Given the description of an element on the screen output the (x, y) to click on. 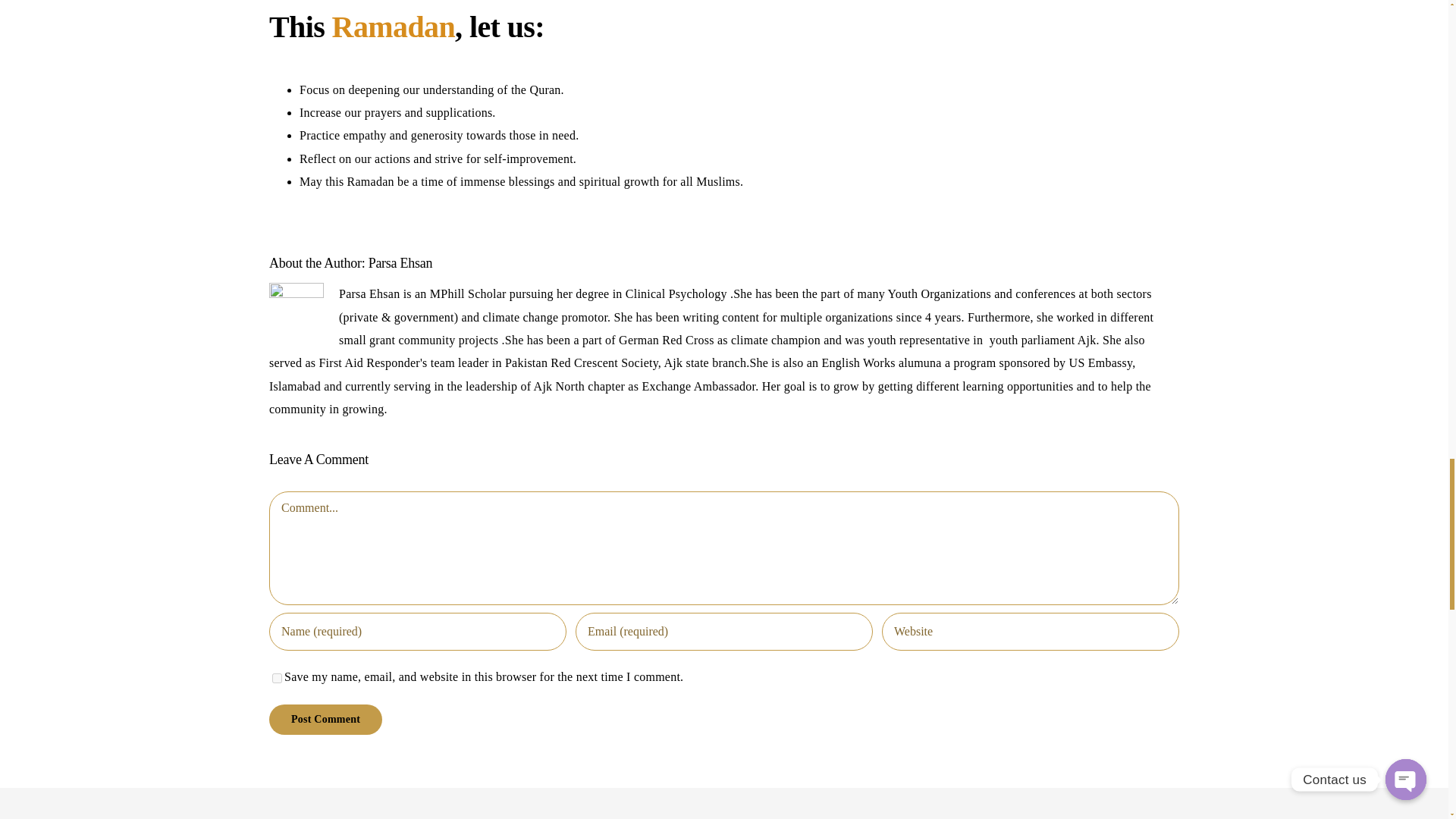
Post Comment (325, 719)
yes (277, 678)
